Given the description of an element on the screen output the (x, y) to click on. 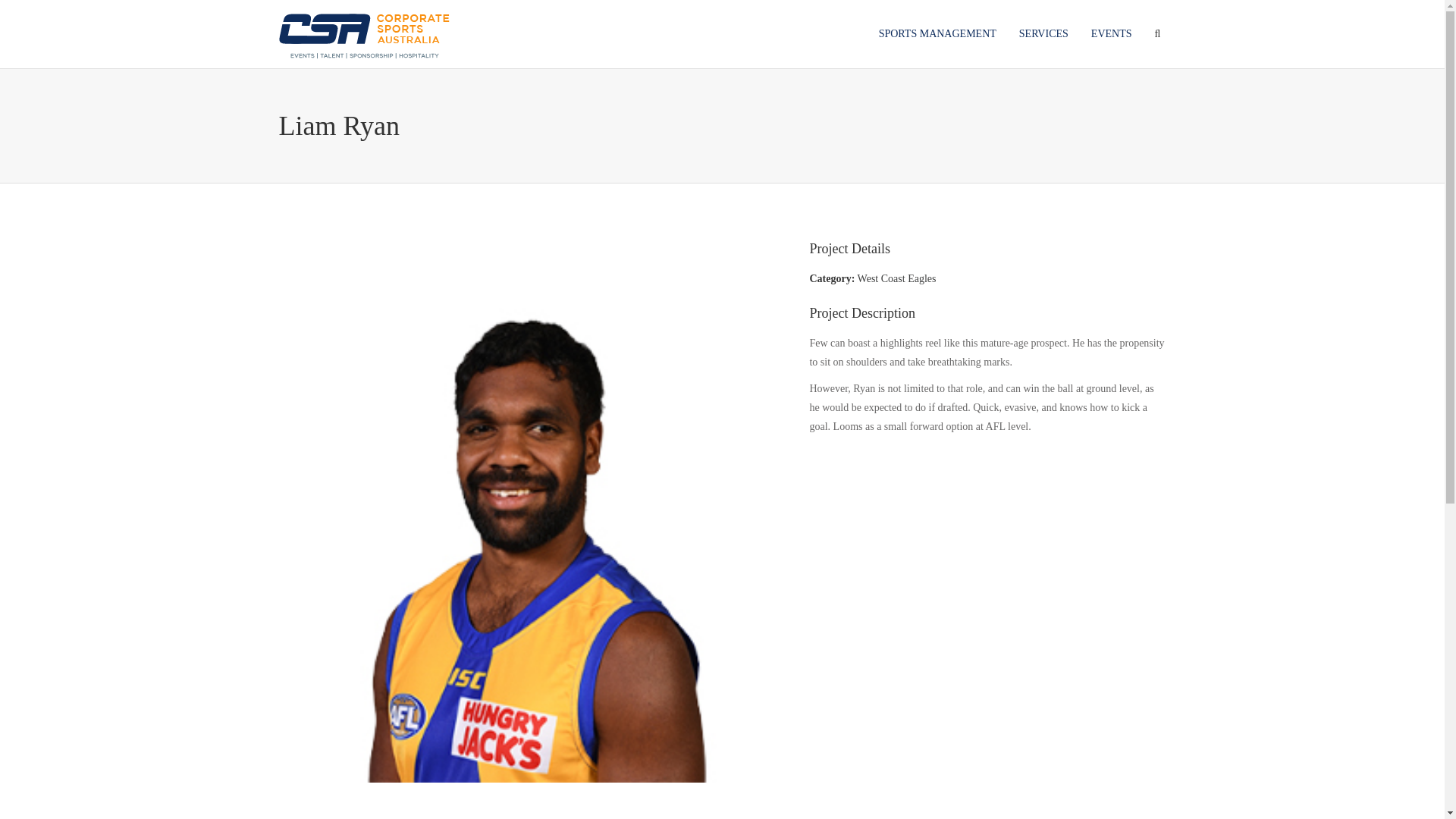
SERVICES (1043, 33)
SPORTS MANAGEMENT (937, 33)
West Coast Eagles (896, 278)
SPORTS MANAGEMENT (937, 33)
Corporate Sports Australia - Corporate Sports Australia (363, 33)
EVENTS (1111, 33)
EVENTS (1111, 33)
SERVICES (1043, 33)
